Given the description of an element on the screen output the (x, y) to click on. 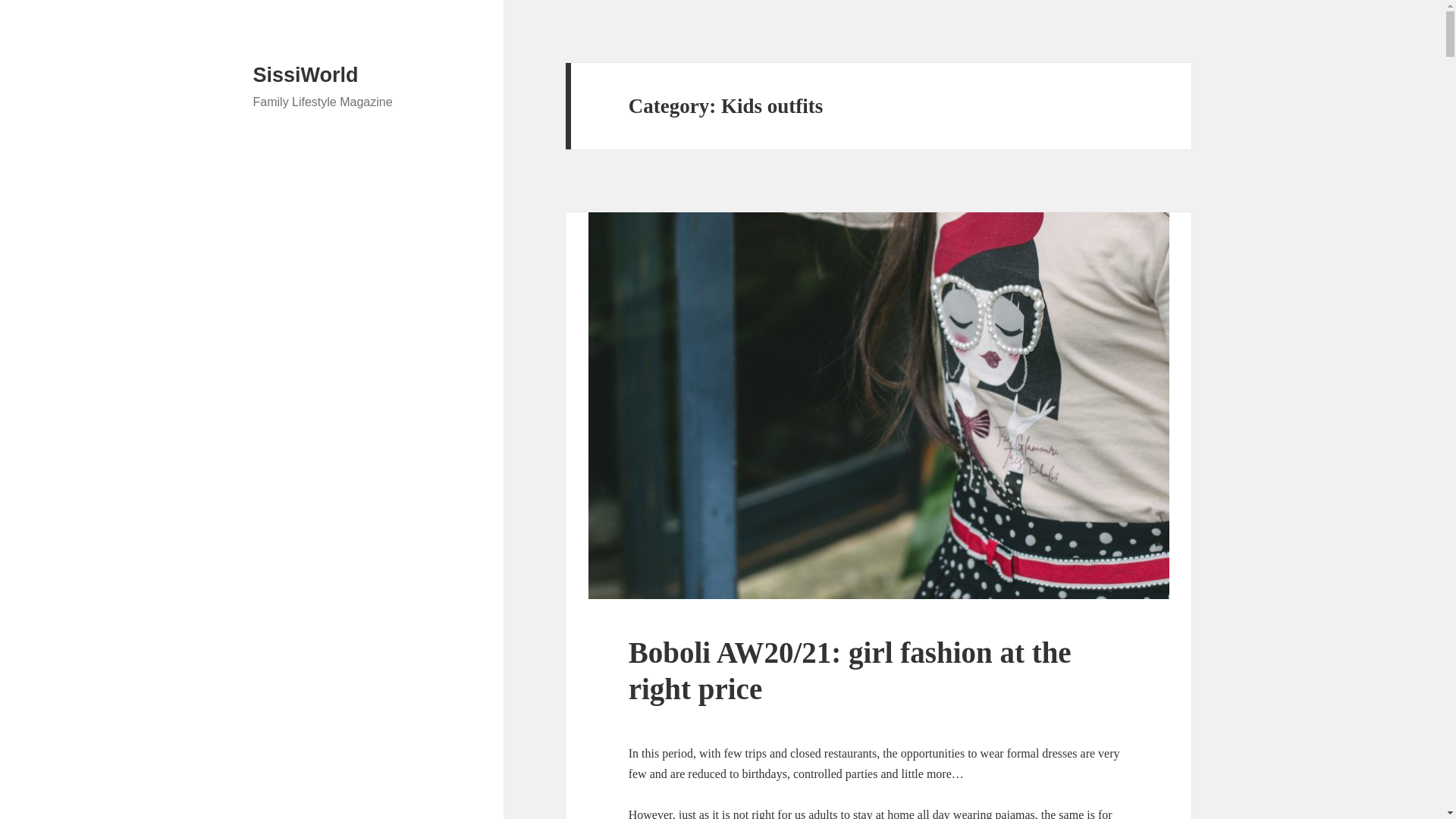
SissiWorld (305, 74)
